Given the description of an element on the screen output the (x, y) to click on. 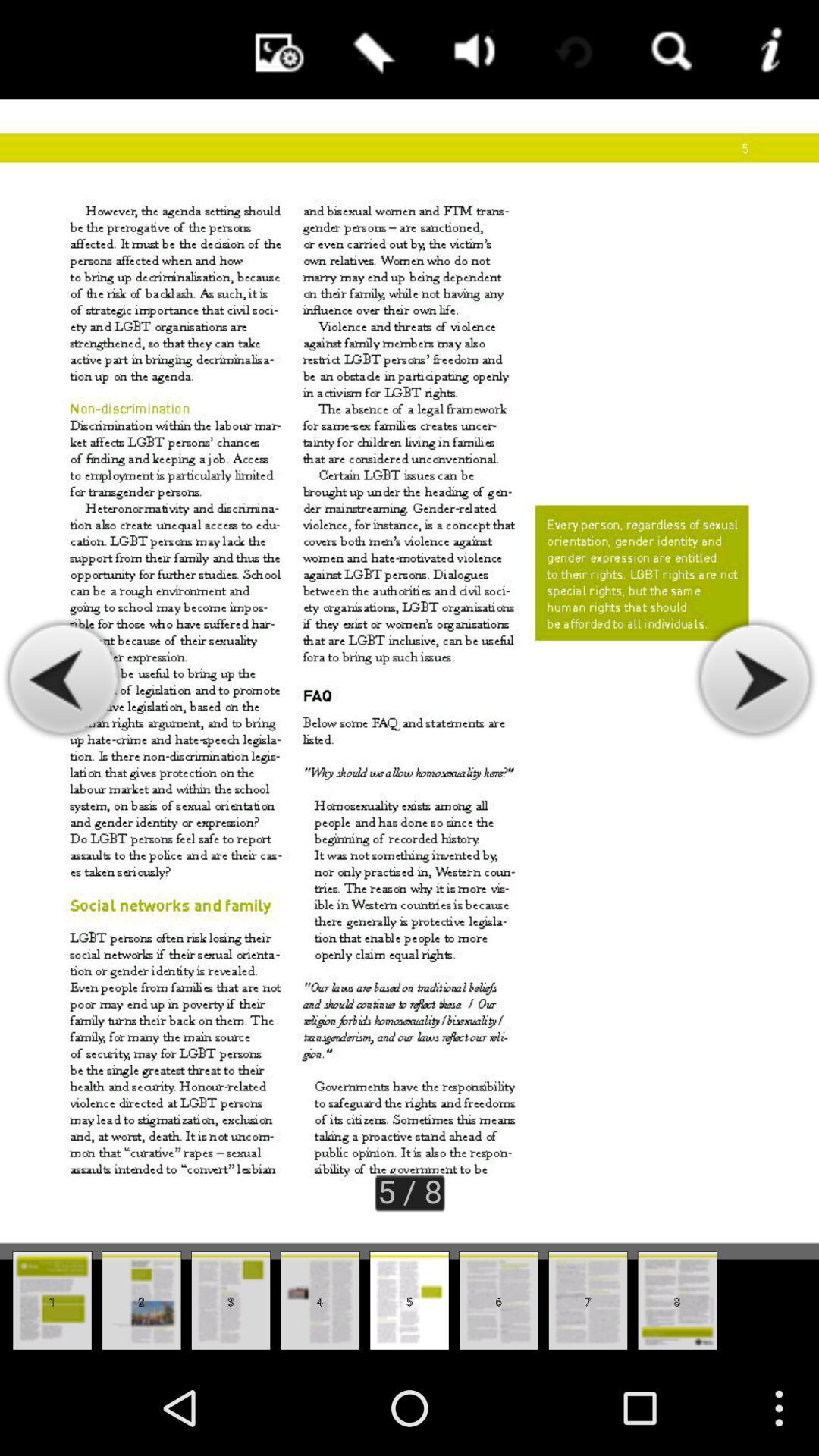
select speaker (470, 49)
